Given the description of an element on the screen output the (x, y) to click on. 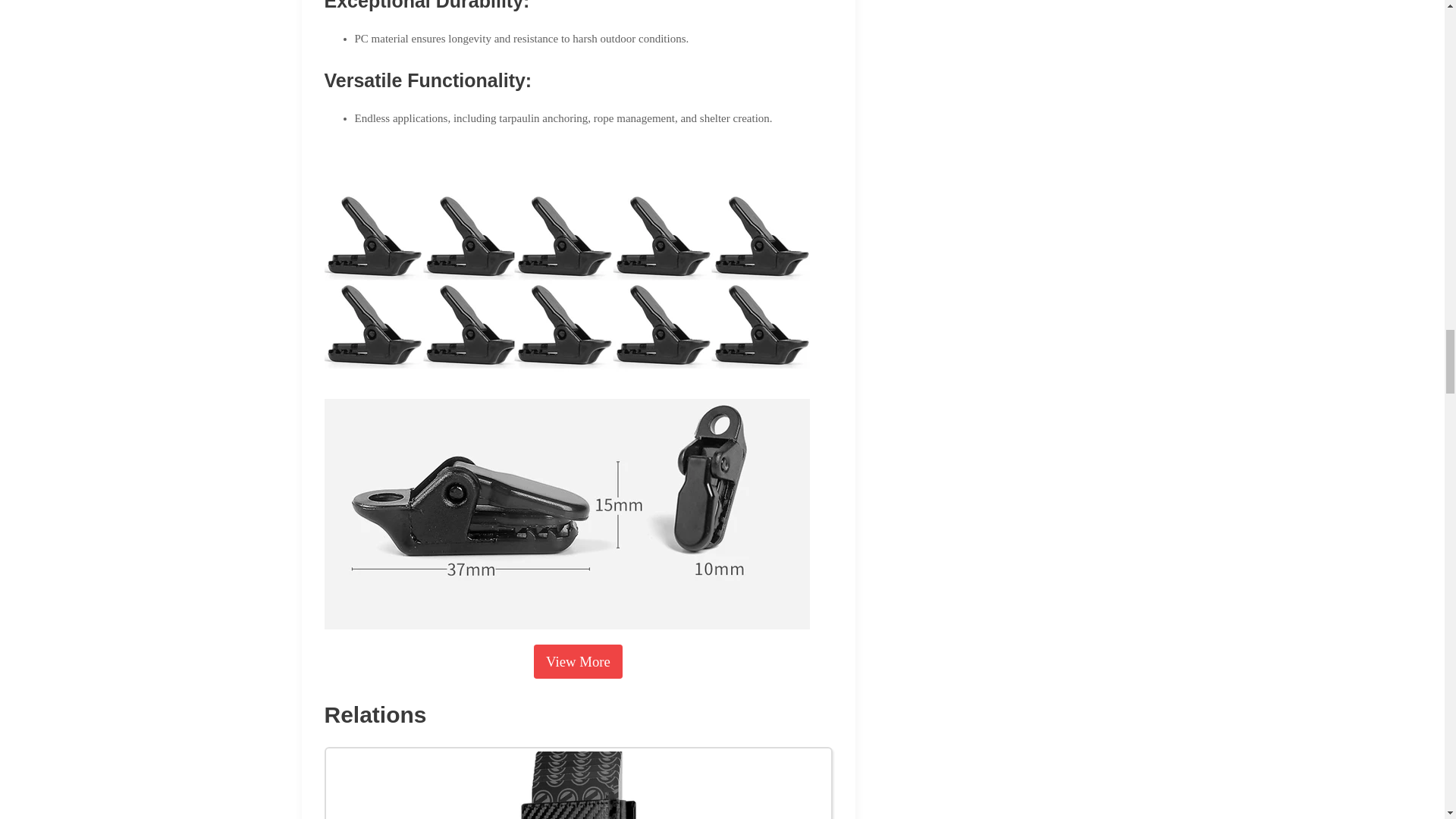
View More (578, 661)
